Given the description of an element on the screen output the (x, y) to click on. 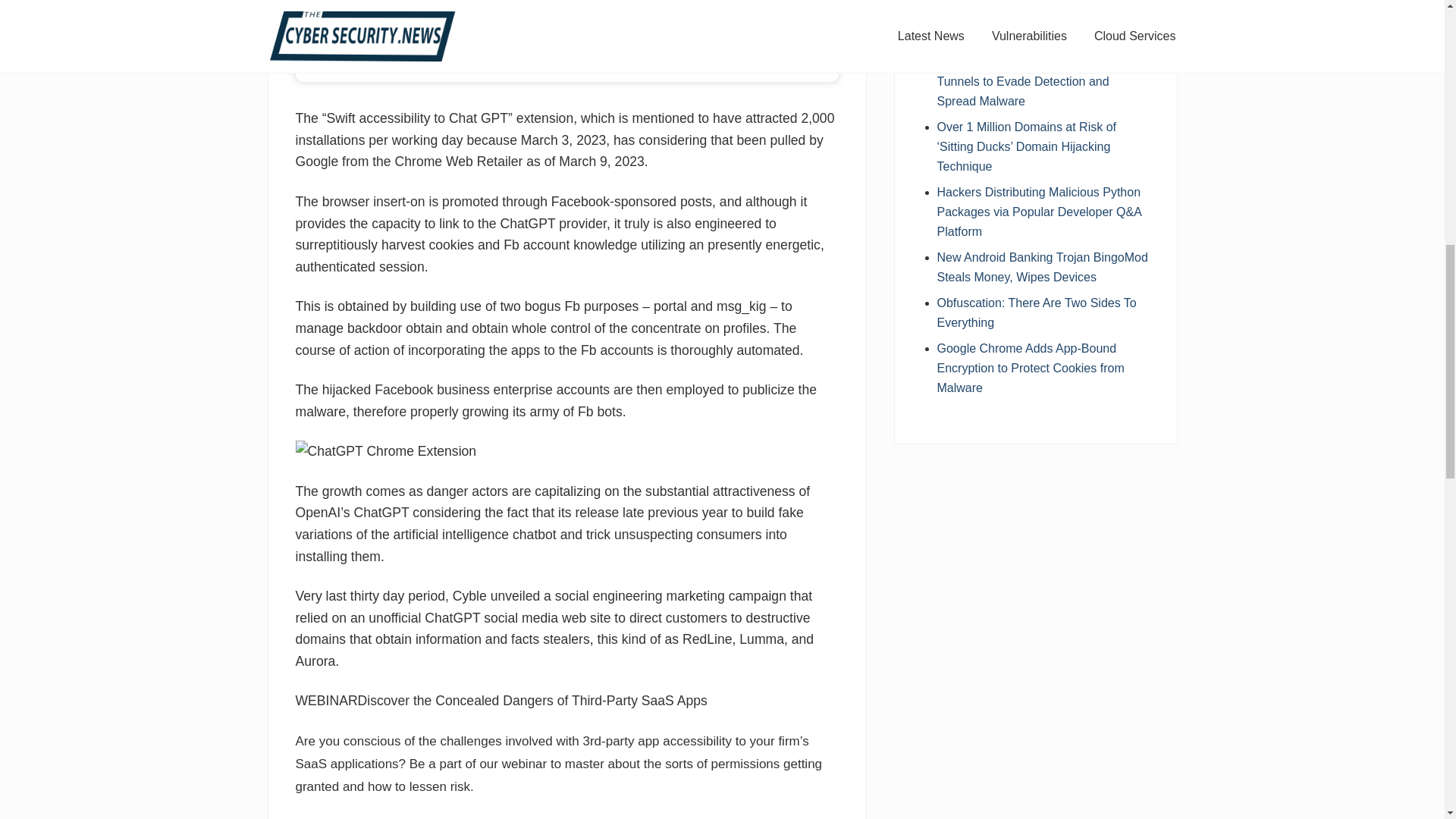
ChatGPT Chrome Extension (386, 451)
Obfuscation: There Are Two Sides To Everything (1037, 312)
